Given the description of an element on the screen output the (x, y) to click on. 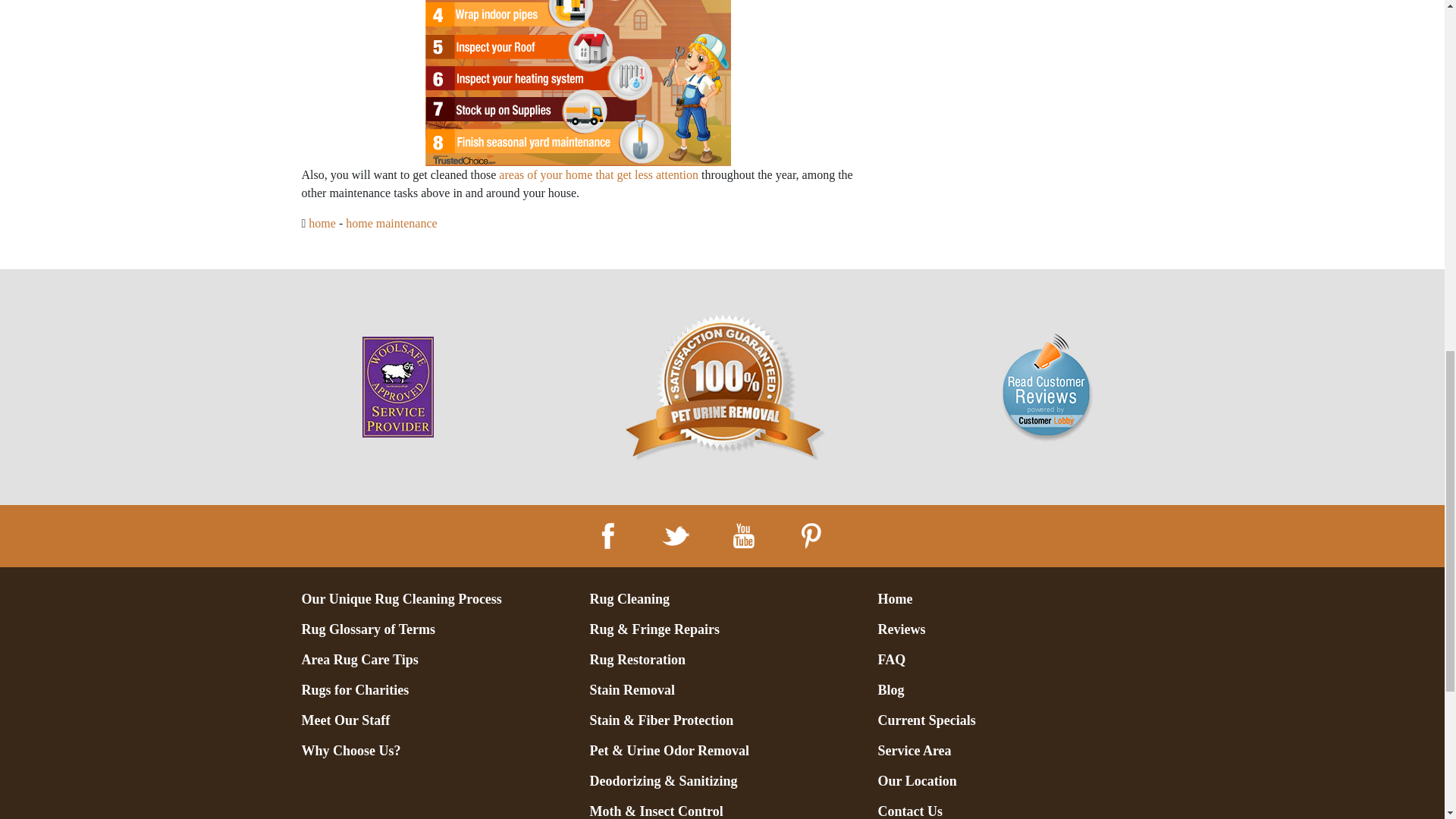
areas of your home that get less attention (598, 174)
